Given the description of an element on the screen output the (x, y) to click on. 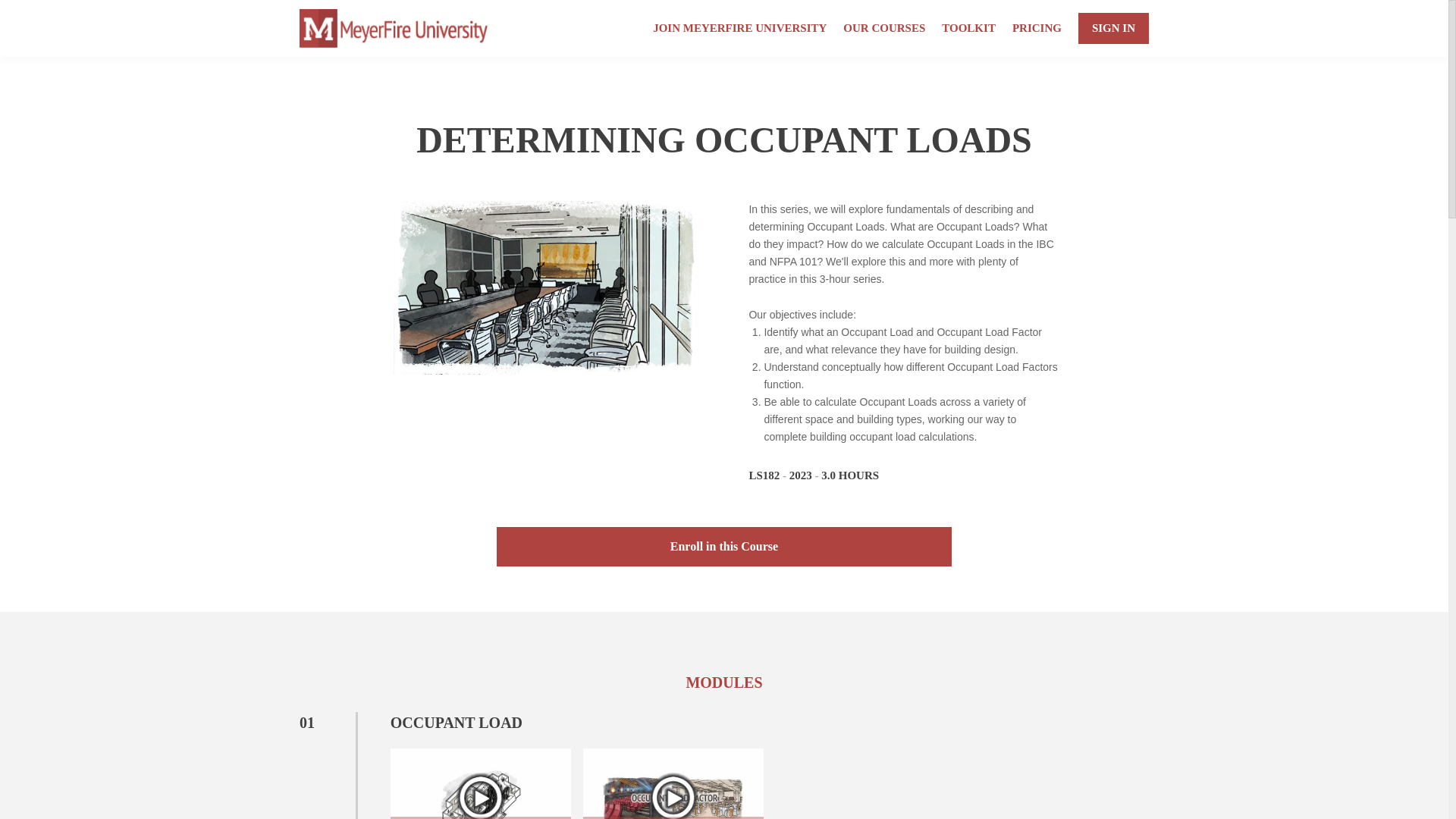
PRICING (1036, 27)
OUR COURSES (883, 27)
SIGN IN (1113, 28)
JOIN MEYERFIRE UNIVERSITY (739, 27)
TOOLKIT (968, 27)
